Given the description of an element on the screen output the (x, y) to click on. 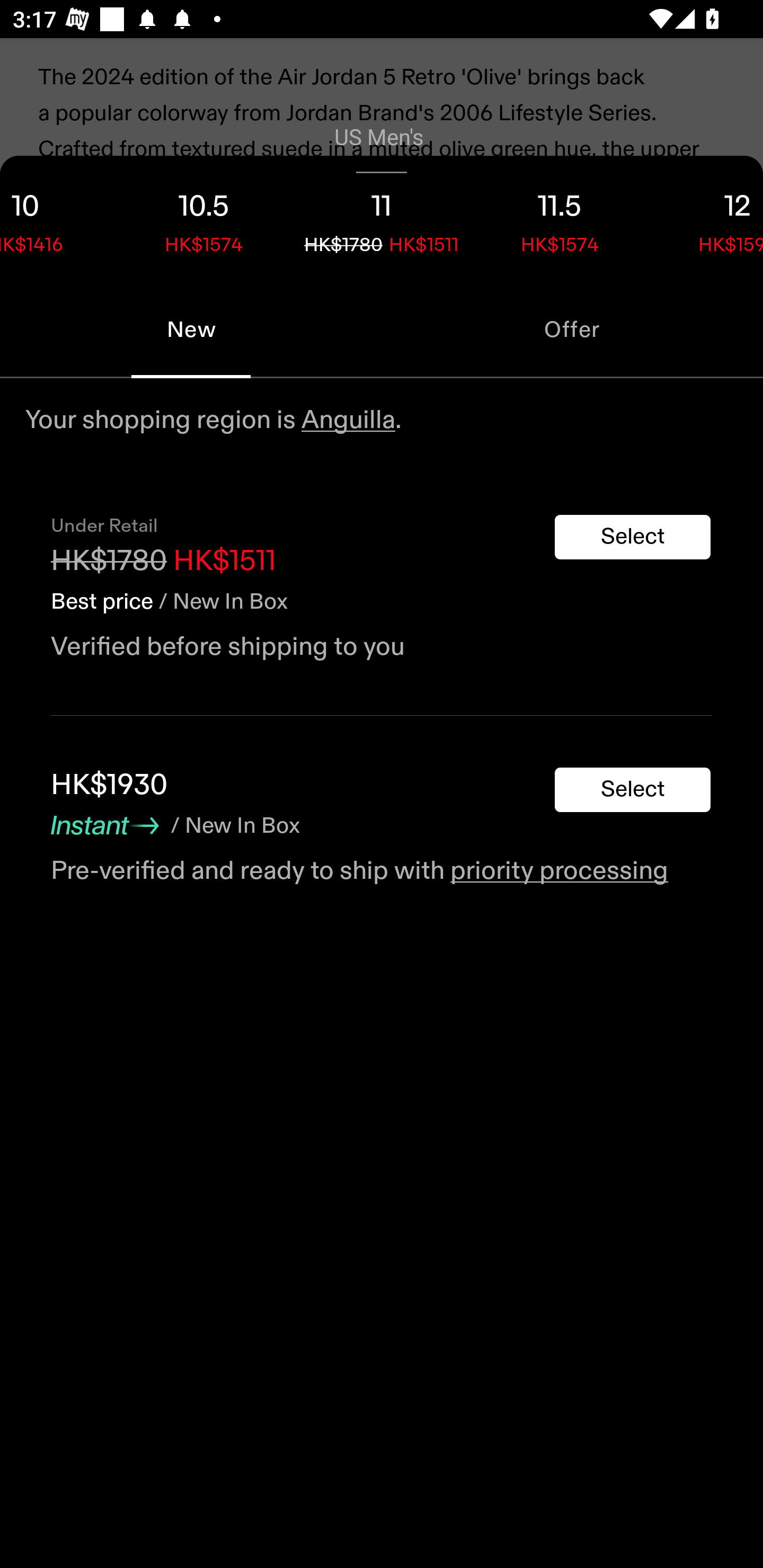
10 HK$1416 (57, 218)
10.5 HK$1574 (203, 218)
11 HK$1780 HK$1511 (381, 218)
11.5 HK$1574 (559, 218)
12 HK$1598 (705, 218)
Offer (572, 329)
Select (632, 536)
Sell (152, 583)
HK$1930 (109, 785)
Select (632, 789)
